Given the description of an element on the screen output the (x, y) to click on. 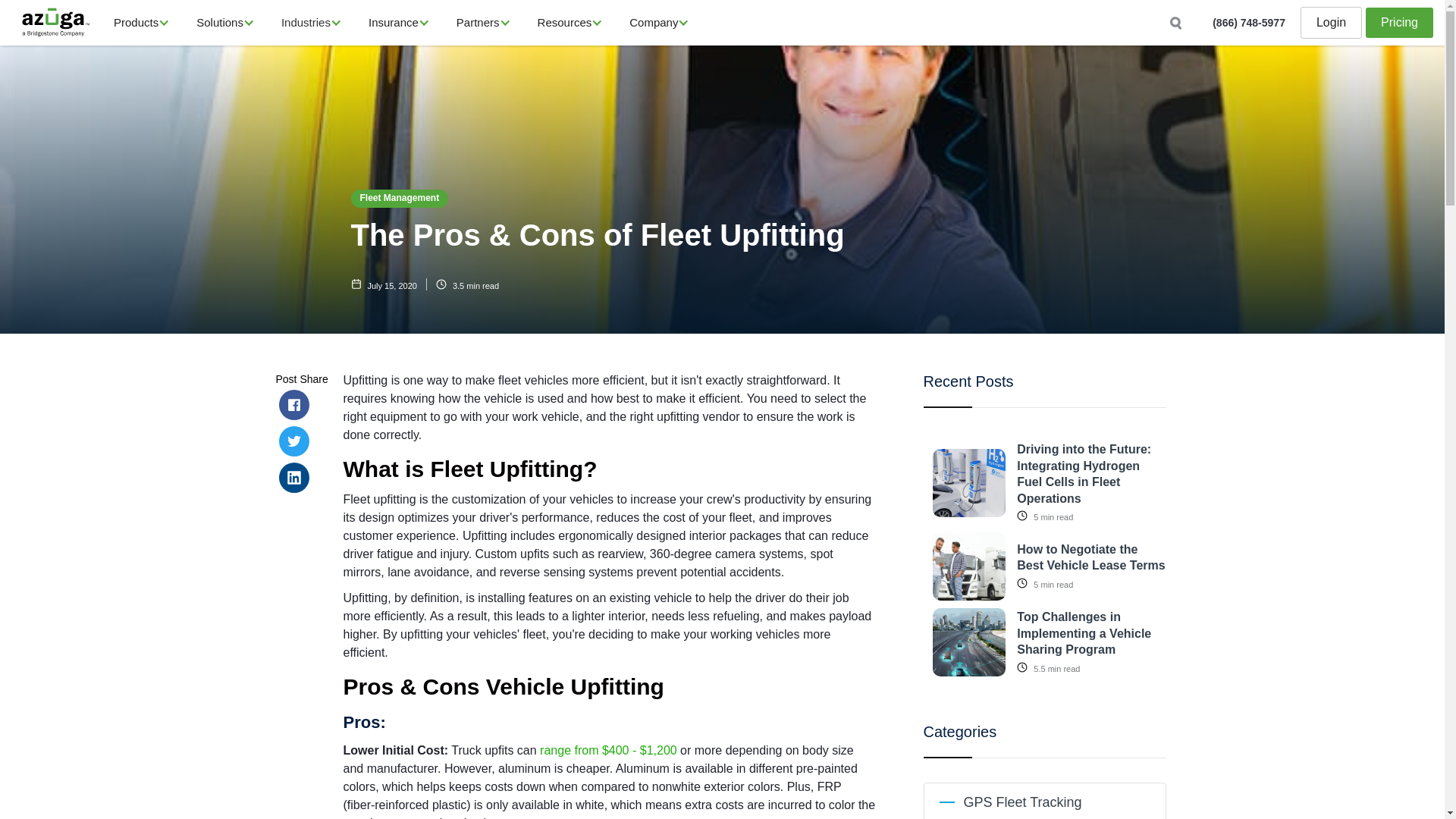
Industries (305, 22)
